Given the description of an element on the screen output the (x, y) to click on. 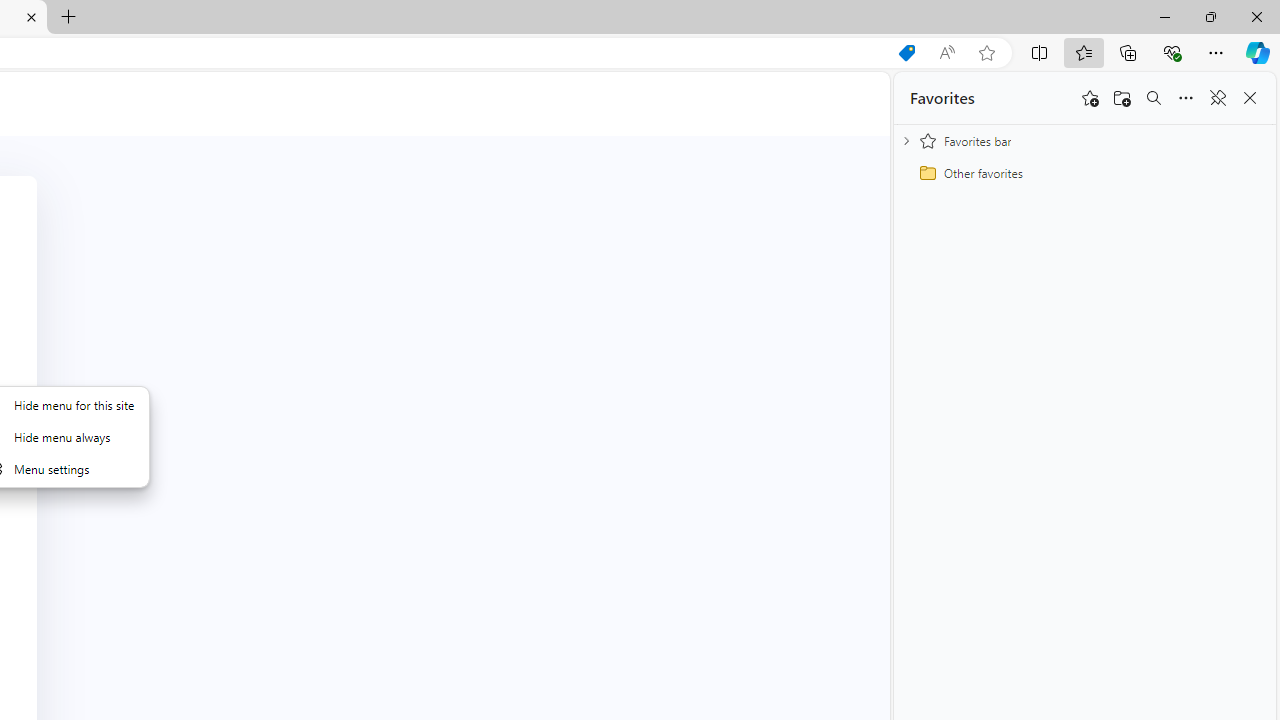
Search favorites (1153, 98)
Add folder (1122, 98)
Close favorites (1250, 98)
Unpin favorites (1217, 98)
